Given the description of an element on the screen output the (x, y) to click on. 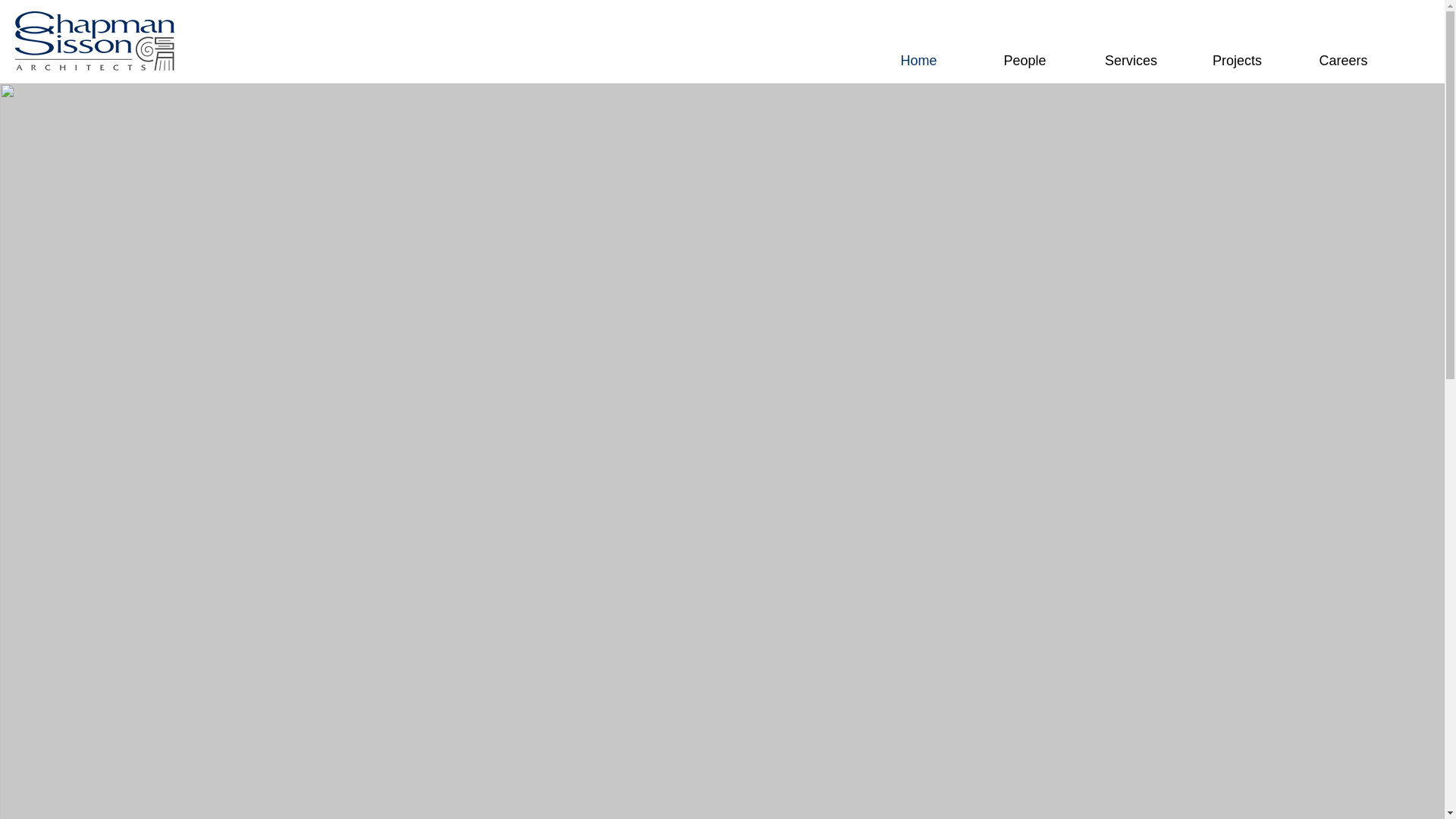
Careers (1343, 60)
Home (917, 60)
Projects (1236, 60)
Services (1130, 60)
People (1024, 60)
